Given the description of an element on the screen output the (x, y) to click on. 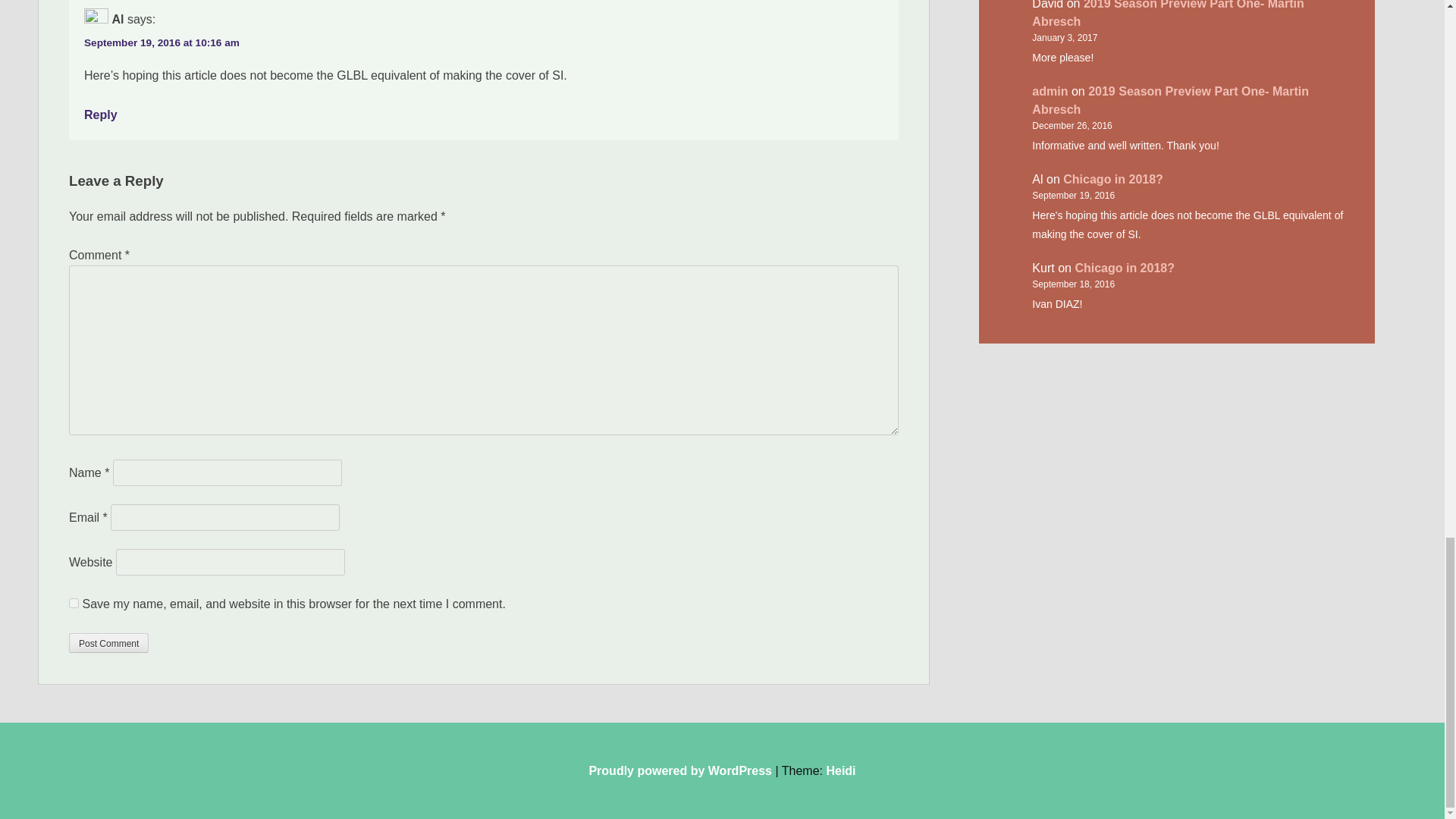
September 19, 2016 at 10:16 am (162, 42)
yes (73, 603)
Post Comment (108, 642)
Post Comment (108, 642)
Reply (100, 114)
